Given the description of an element on the screen output the (x, y) to click on. 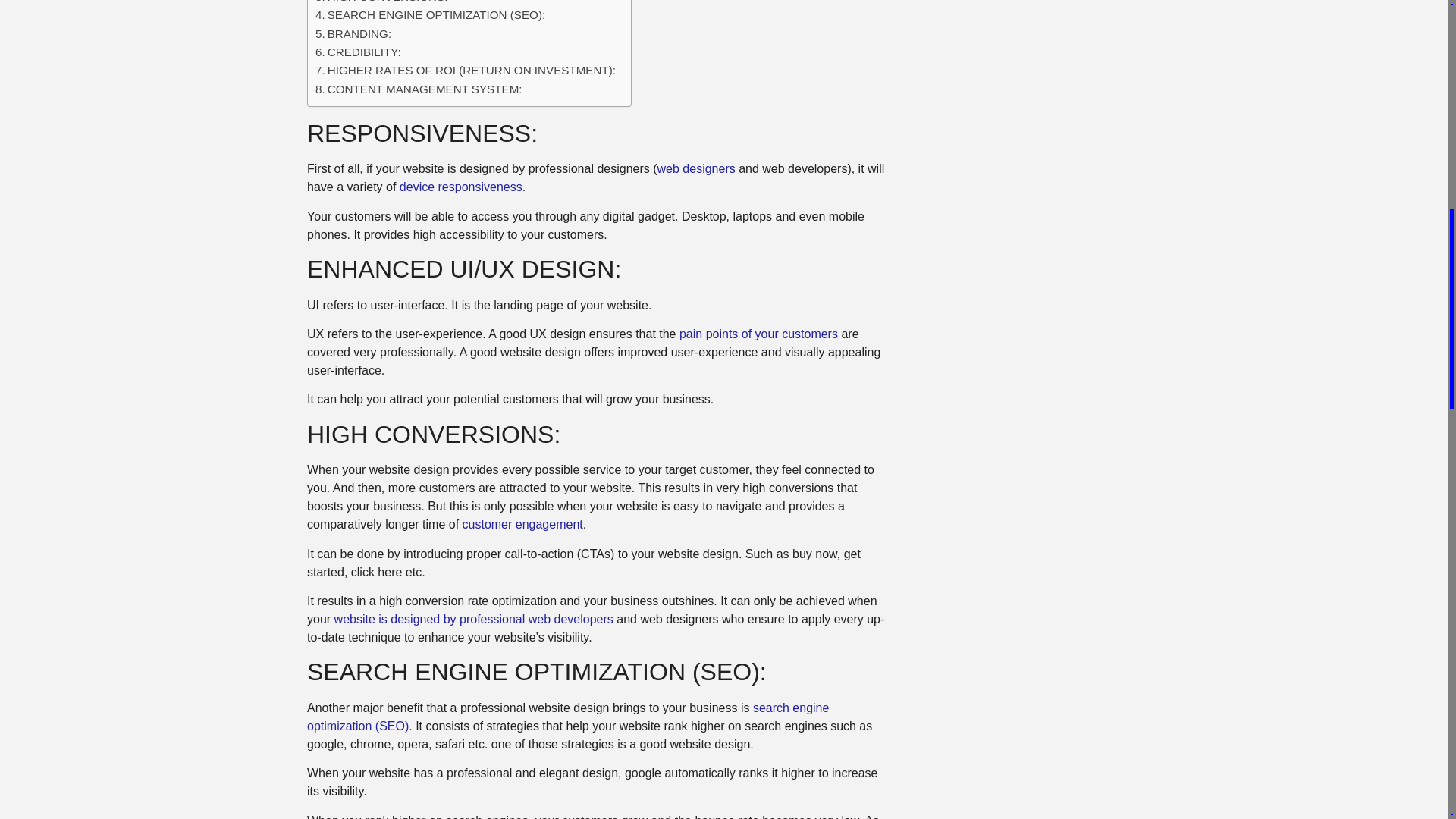
CREDIBILITY: (358, 52)
BRANDING: (353, 34)
customer engagement (523, 523)
website is designed by professional web developers (473, 618)
BRANDING: (353, 34)
CONTENT MANAGEMENT SYSTEM: (418, 89)
CREDIBILITY: (358, 52)
web designers (696, 168)
HIGH CONVERSIONS: (380, 2)
CONTENT MANAGEMENT SYSTEM: (418, 89)
device responsiveness (460, 186)
pain points of your customers (758, 333)
HIGH CONVERSIONS: (380, 2)
